Given the description of an element on the screen output the (x, y) to click on. 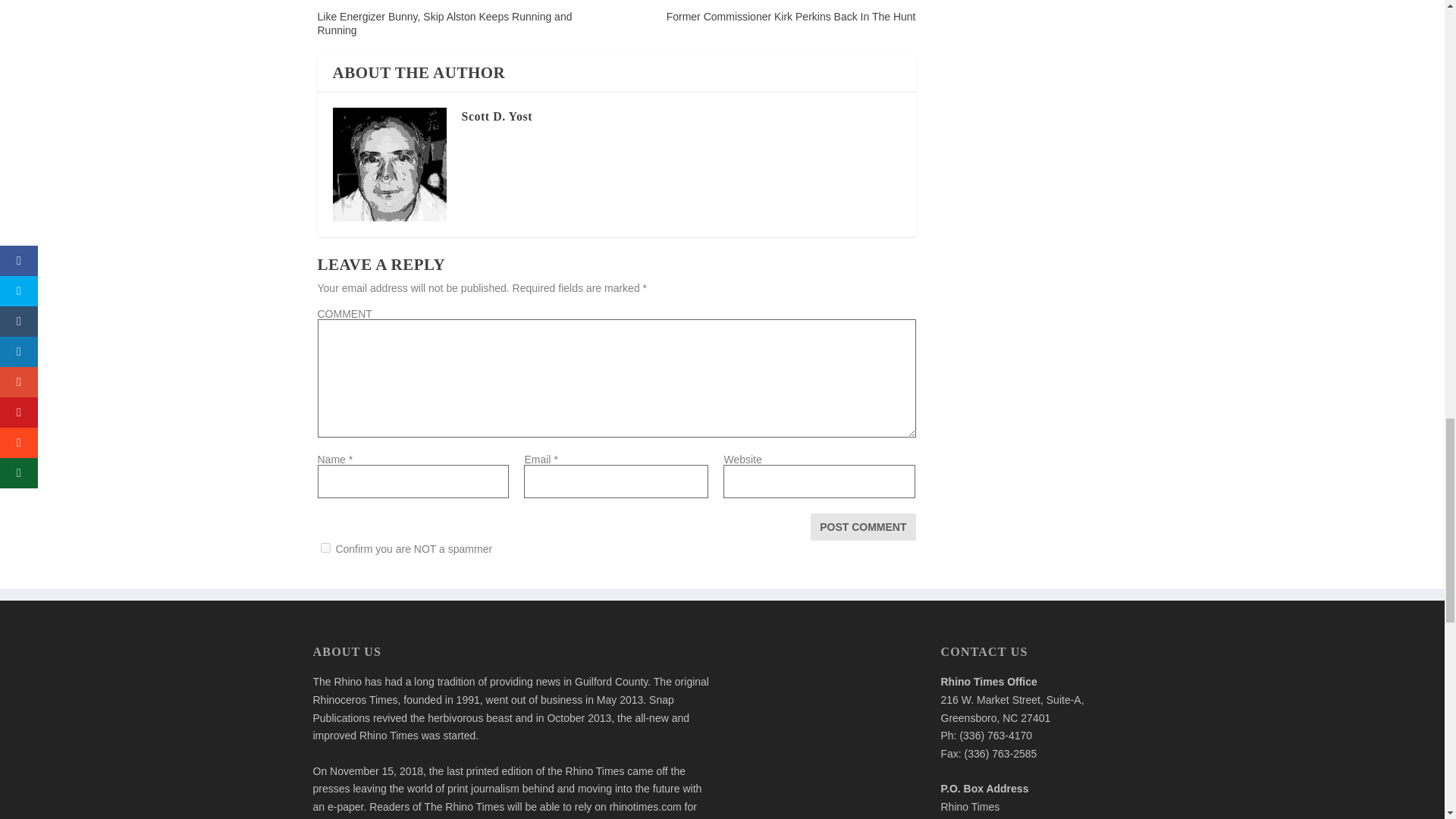
Advertisement (825, 732)
on (325, 547)
View all posts by Scott D. Yost (496, 115)
Post Comment (862, 526)
